Given the description of an element on the screen output the (x, y) to click on. 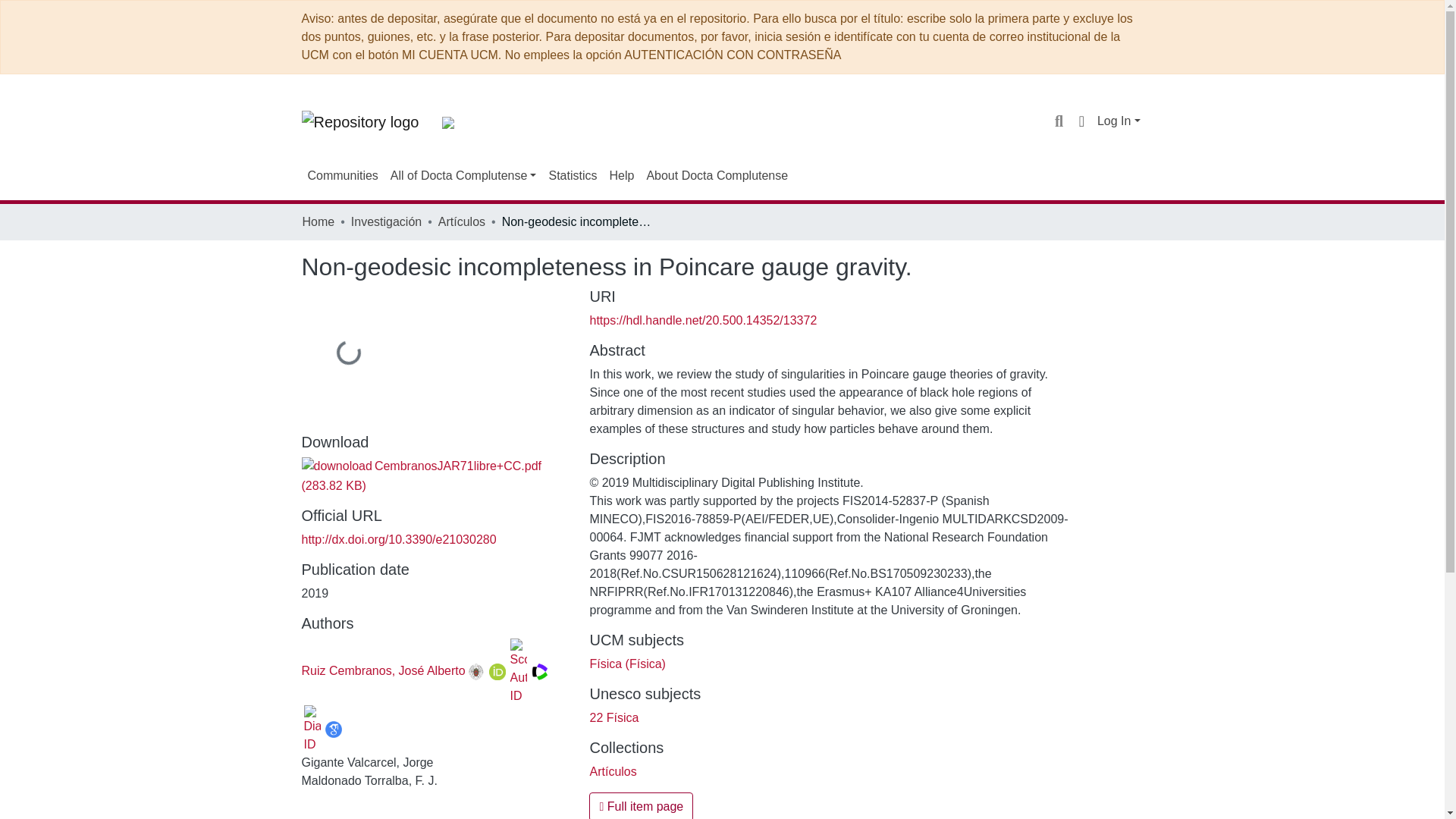
Google Scholar ID (332, 729)
Help (621, 175)
Log In (1118, 120)
Language switch (1081, 121)
UCM identifier (475, 671)
About Docta Complutense (716, 175)
Web of Science ResearcherID (539, 671)
About Docta Complutense (716, 175)
ORCID (497, 671)
Communities (342, 175)
